Given the description of an element on the screen output the (x, y) to click on. 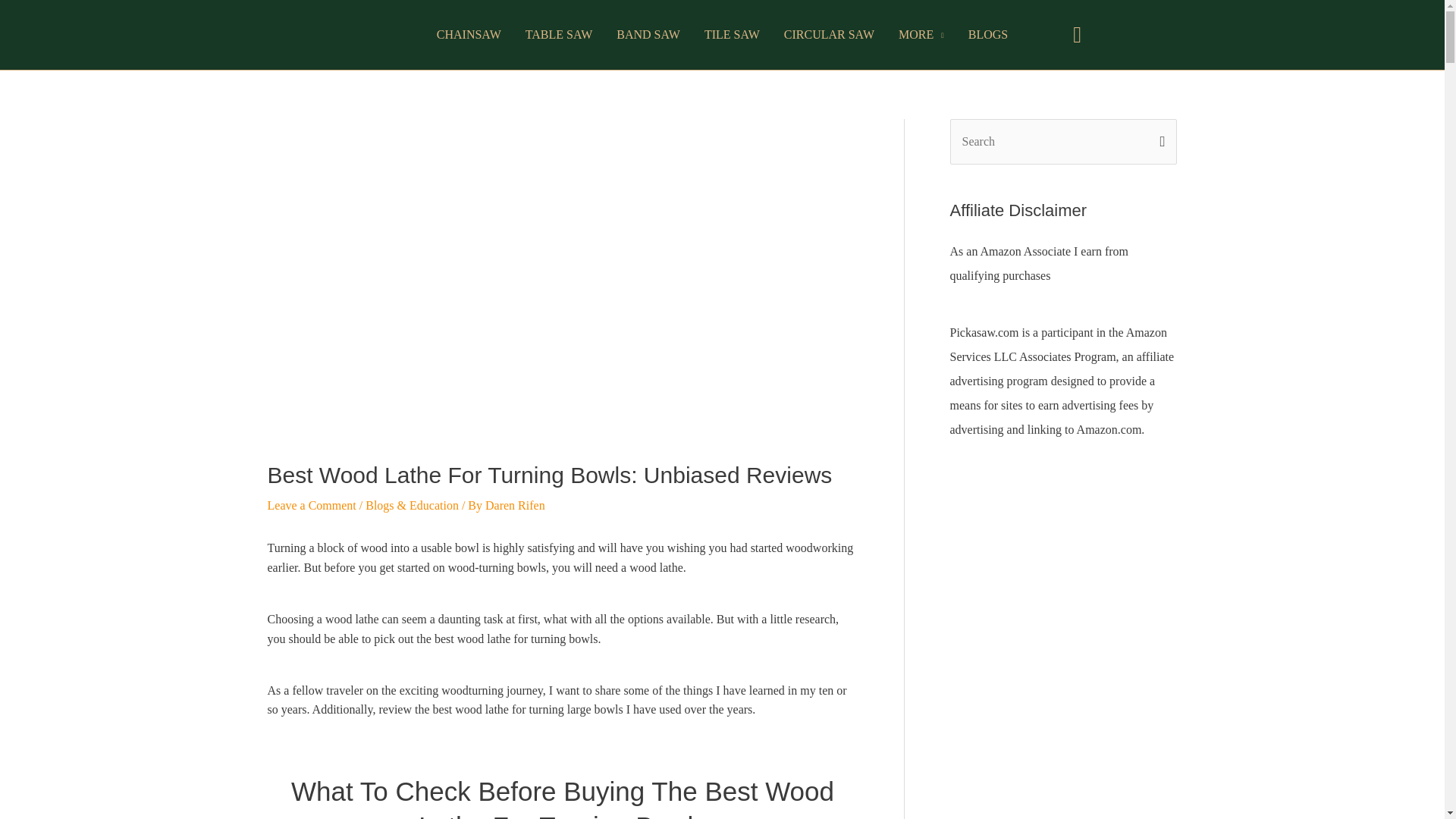
TILE SAW (732, 34)
CIRCULAR SAW (828, 34)
Leave a Comment (310, 504)
Search (1158, 134)
Daren Rifen (514, 504)
CHAINSAW (469, 34)
Search (1158, 134)
MORE (921, 34)
BAND SAW (648, 34)
View all posts by Daren Rifen (514, 504)
BLOGS (988, 34)
TABLE SAW (559, 34)
